Given the description of an element on the screen output the (x, y) to click on. 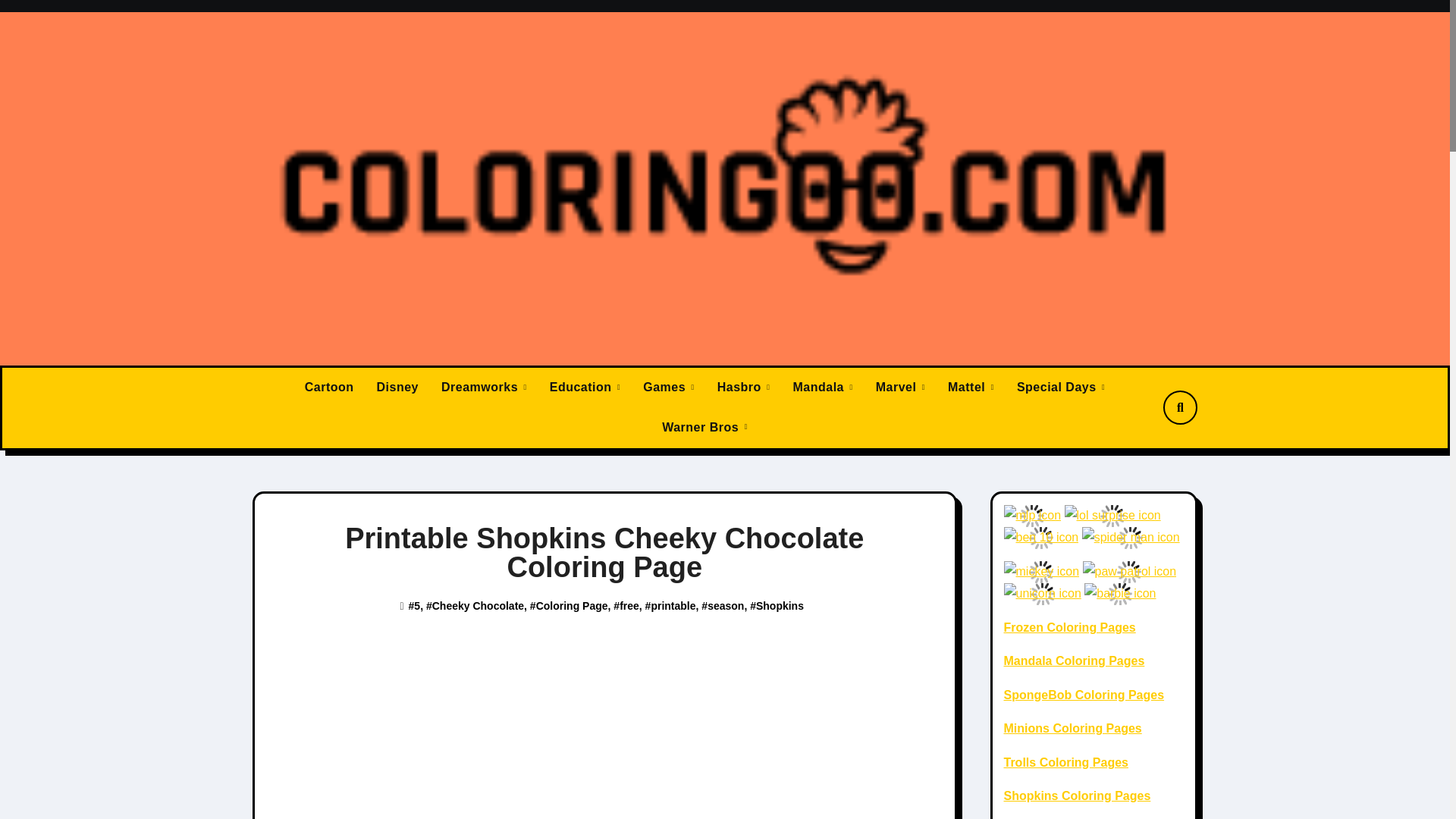
Games (668, 387)
Cartoon (329, 387)
Disney (397, 387)
Dreamworks (483, 387)
Disney (397, 387)
Dreamworks (483, 387)
Cartoon (329, 387)
Education (584, 387)
Education (584, 387)
